Given the description of an element on the screen output the (x, y) to click on. 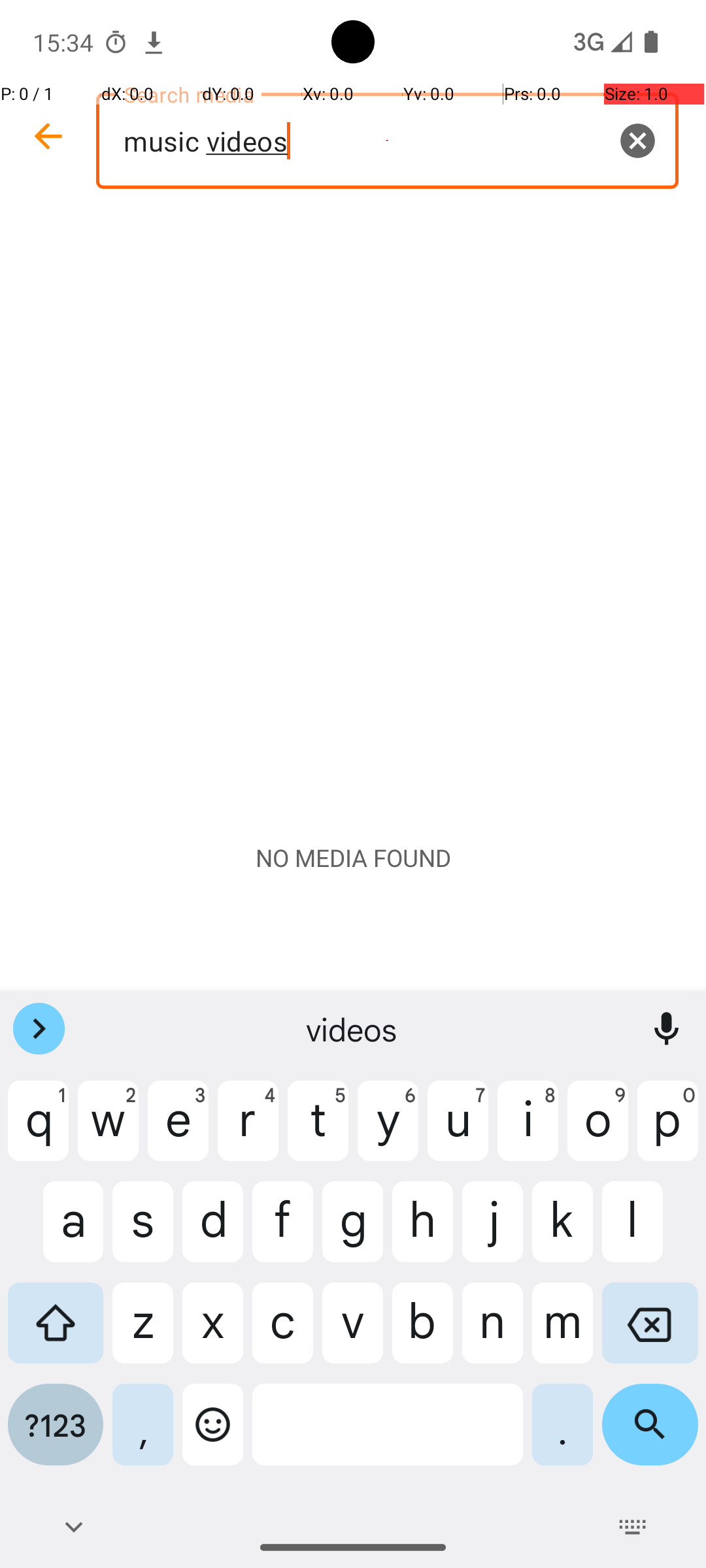
music videos Element type: android.widget.EditText (387, 140)
NO MEDIA FOUND Element type: android.widget.TextView (353, 857)
videos Element type: android.widget.FrameLayout (352, 1028)
